Given the description of an element on the screen output the (x, y) to click on. 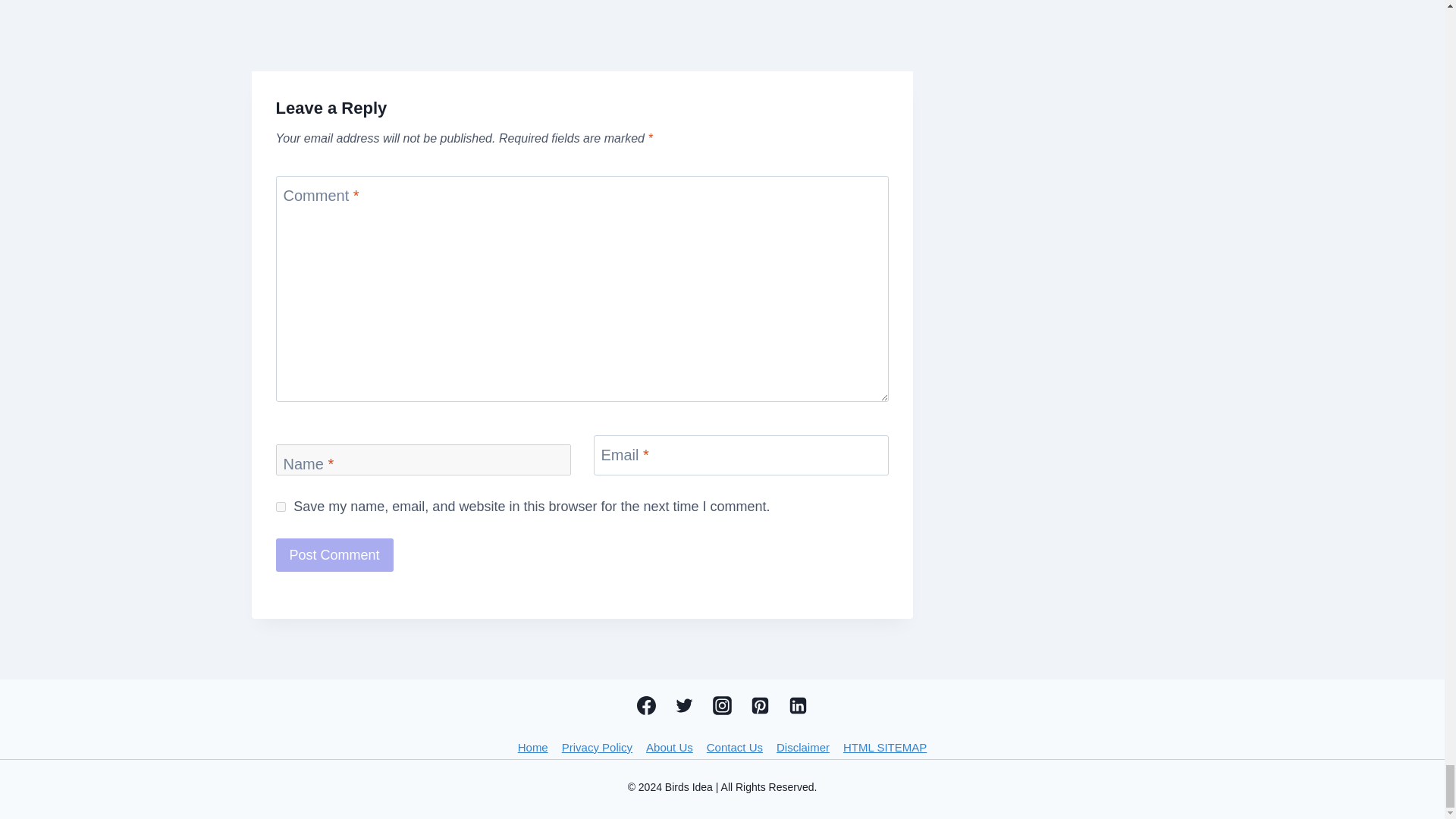
Post Comment (334, 554)
yes (280, 506)
